Given the description of an element on the screen output the (x, y) to click on. 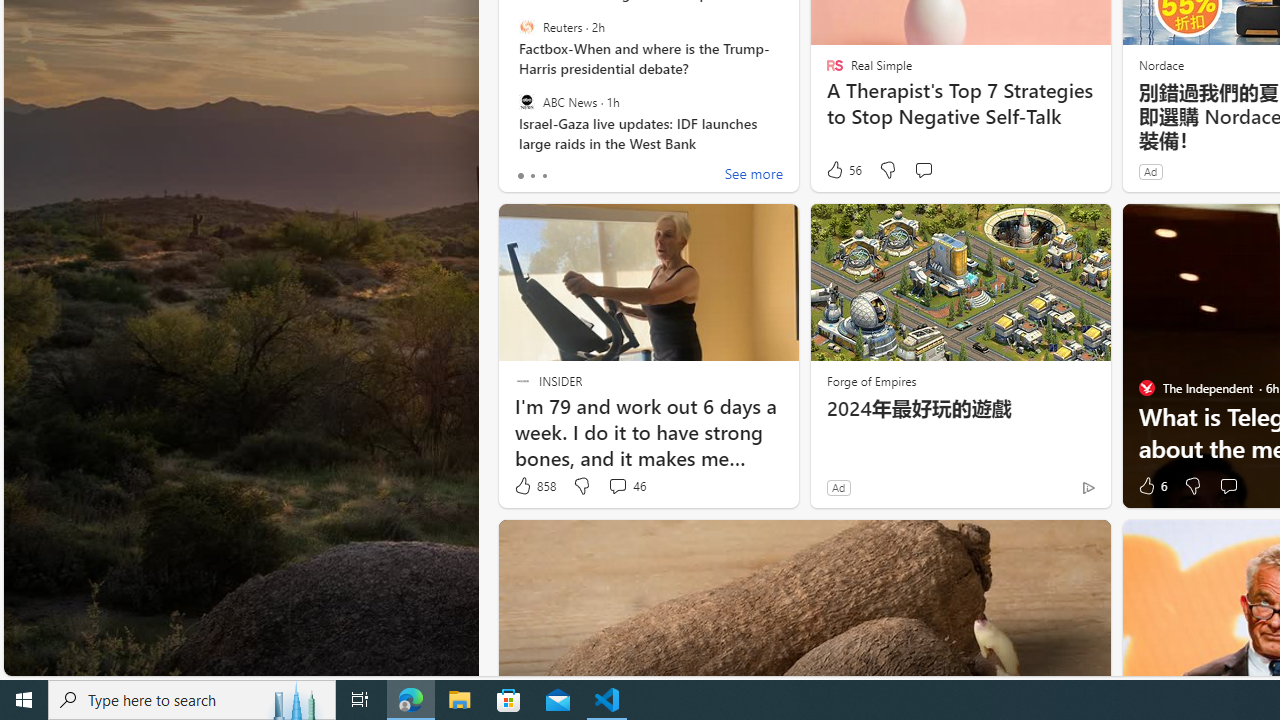
tab-0 (520, 175)
6 Like (1151, 485)
Reuters (526, 27)
Start the conversation (1227, 485)
View comments 46 Comment (626, 485)
tab-2 (543, 175)
56 Like (843, 170)
